Given the description of an element on the screen output the (x, y) to click on. 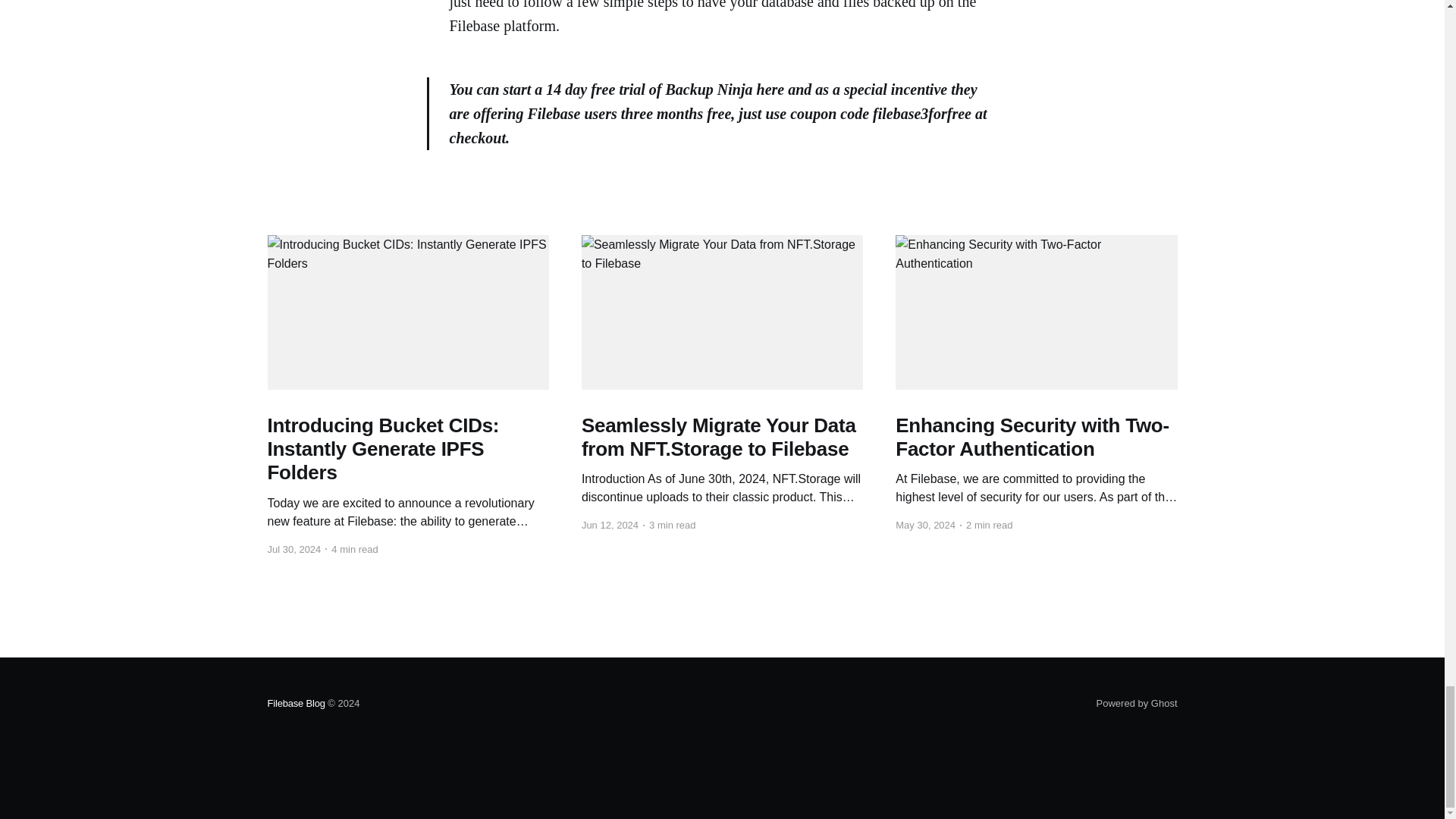
Powered by Ghost (1136, 703)
Filebase Blog (295, 703)
